Given the description of an element on the screen output the (x, y) to click on. 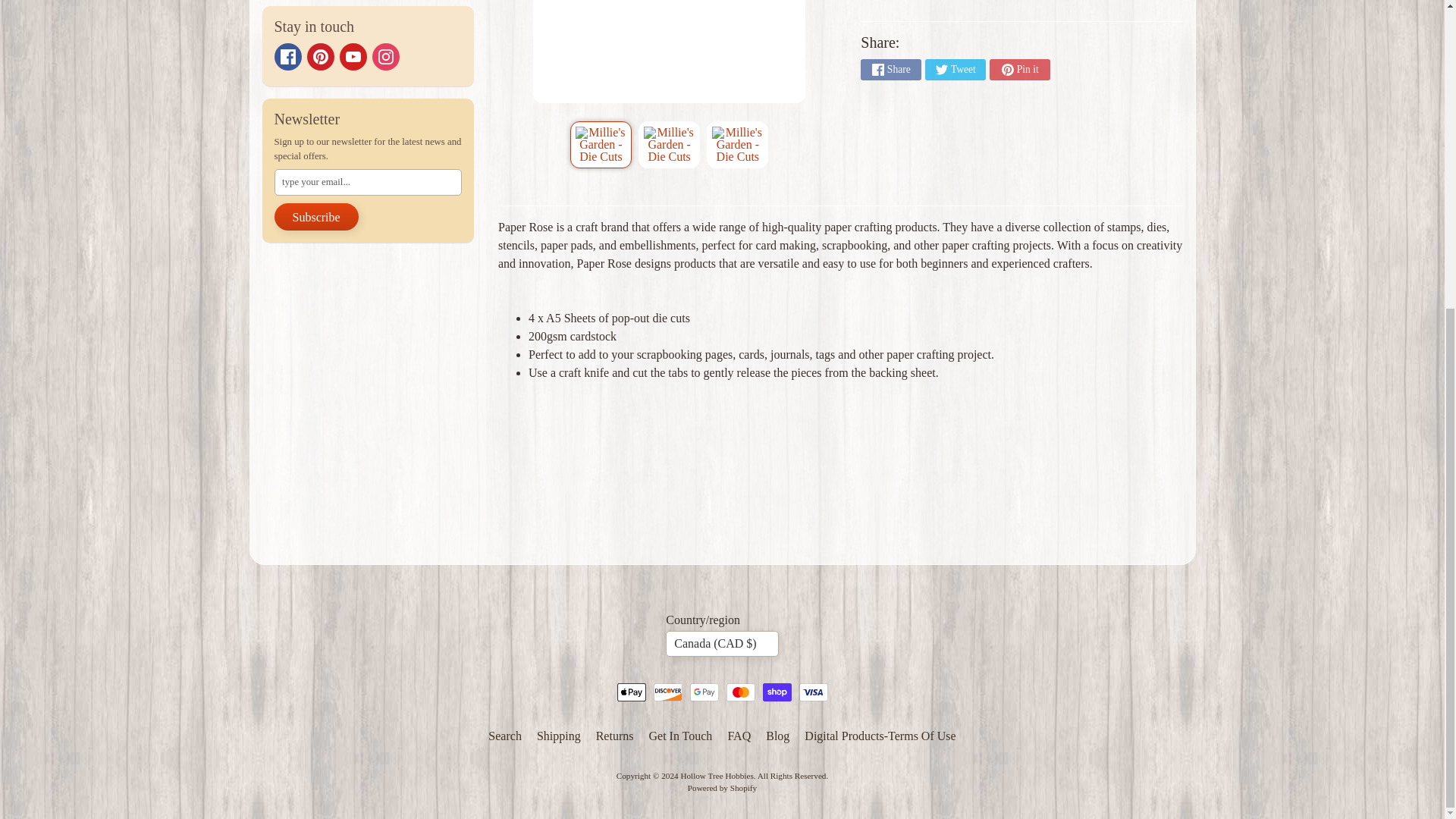
Tweet on Twitter (954, 69)
Facebook (288, 56)
Millie's Garden - Die Cuts (737, 144)
Discover (667, 692)
Instagram (384, 56)
Pin on Pinterest (1019, 69)
Millie's Garden - Die Cuts (669, 144)
Pinterest (319, 56)
Millie's Garden - Die Cuts (600, 144)
Google Pay (704, 692)
